Given the description of an element on the screen output the (x, y) to click on. 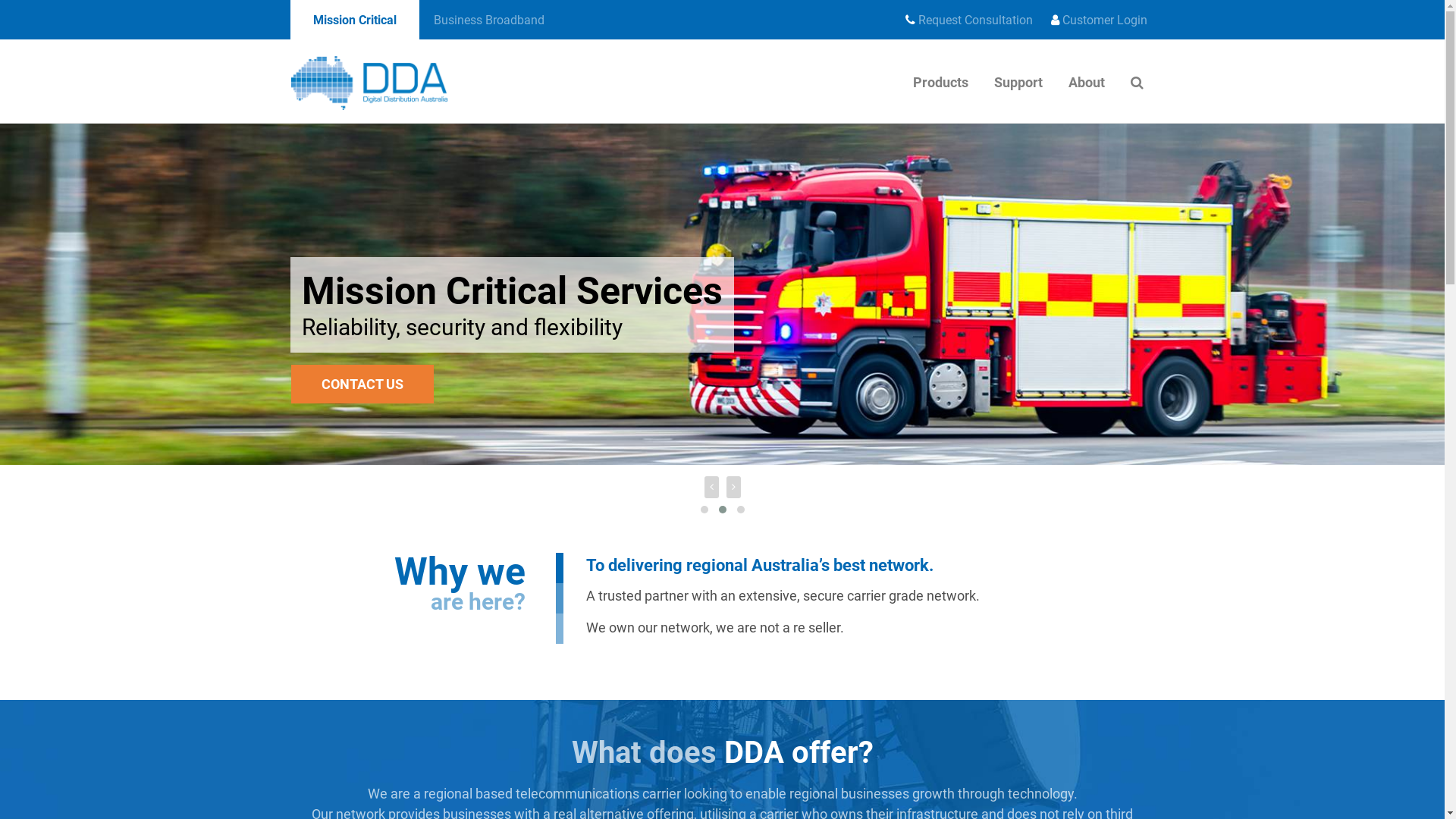
About Element type: text (1086, 82)
Mission Critical Element type: text (353, 20)
Support Element type: text (1018, 82)
Customer Login Element type: text (1098, 20)
Products Element type: text (939, 82)
CONTACT US Element type: text (361, 384)
Business Broadband Element type: text (488, 20)
Request Consultation Element type: text (968, 20)
